Given the description of an element on the screen output the (x, y) to click on. 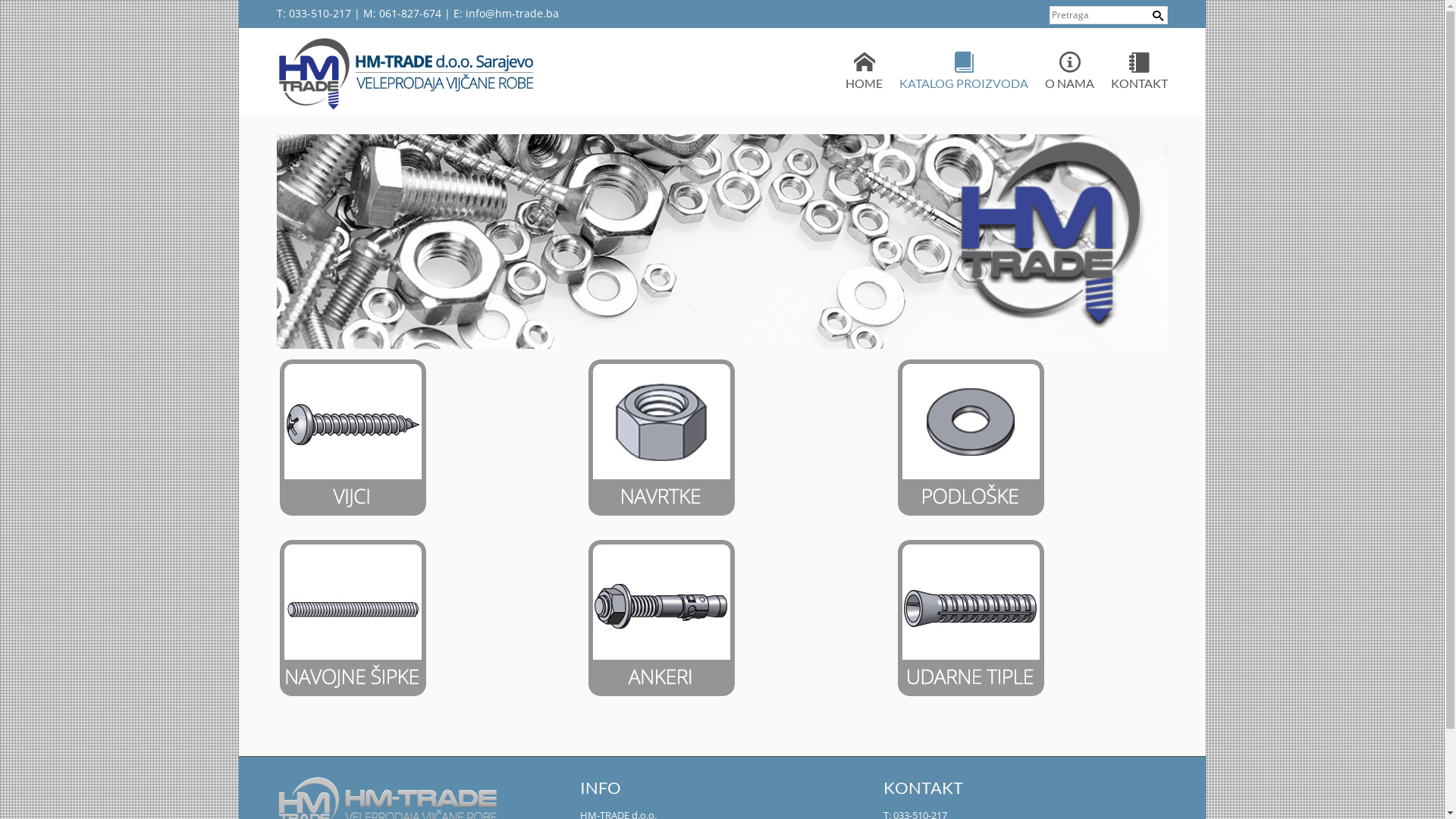
HOME Element type: text (863, 70)
O NAMA Element type: text (1069, 70)
KATALOG PROIZVODA Element type: text (963, 70)
HM Trade d.o.o. Element type: hover (409, 72)
KONTAKT Element type: text (1138, 70)
